Given the description of an element on the screen output the (x, y) to click on. 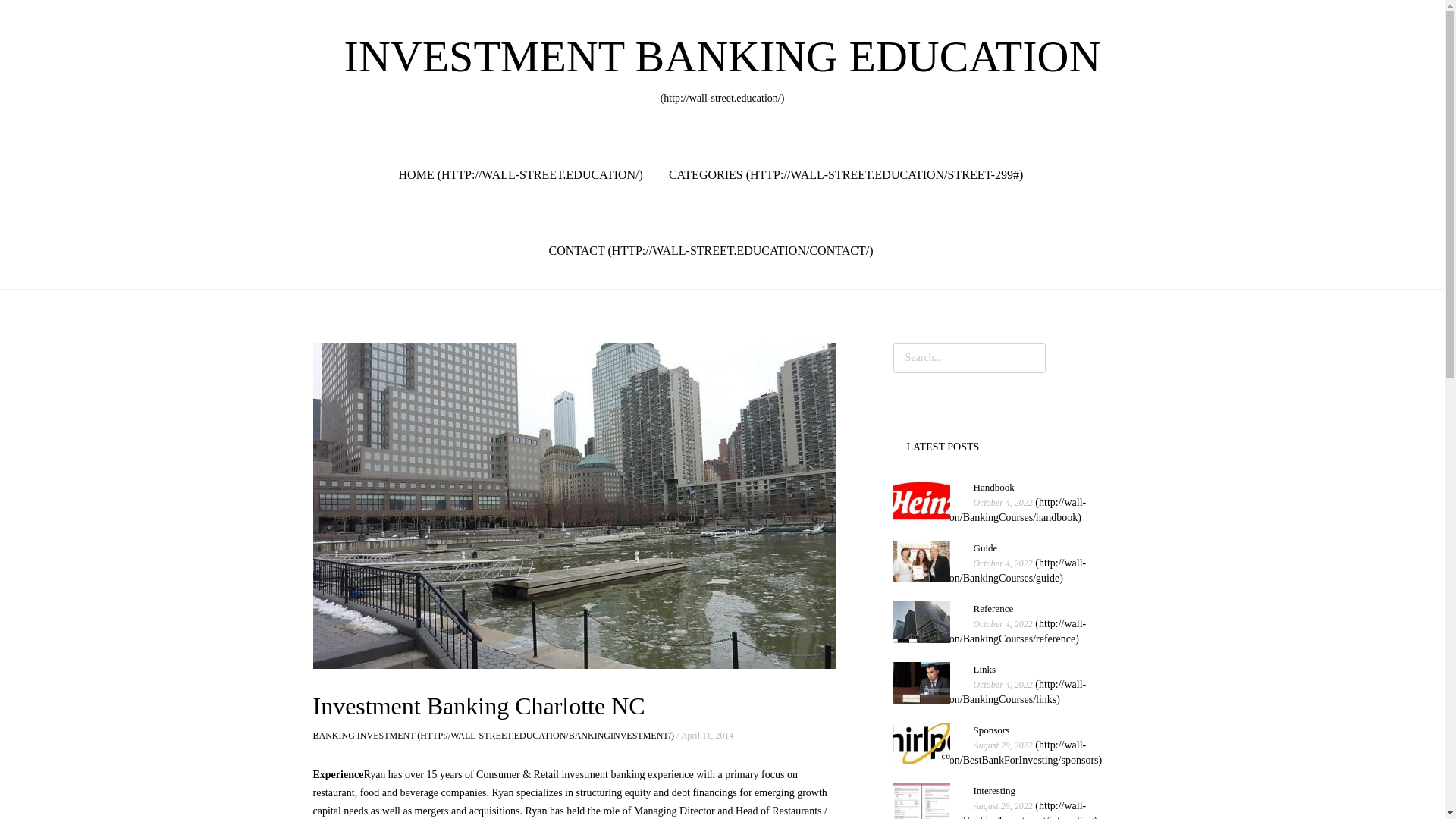
BANKING INVESTMENT (493, 735)
CATEGORIES (989, 691)
CONTACT (845, 174)
HOME (989, 631)
